Given the description of an element on the screen output the (x, y) to click on. 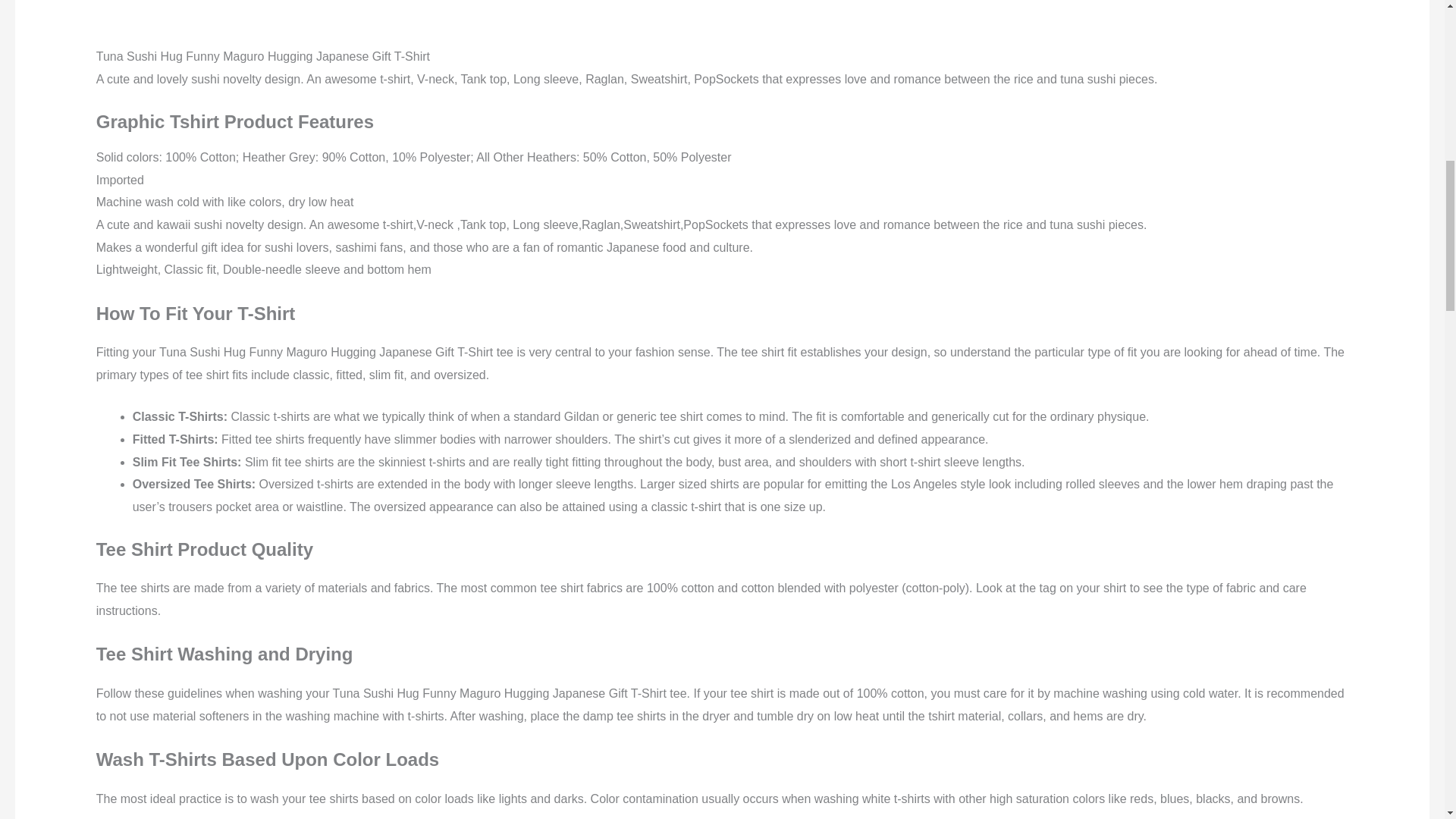
T-Shirt Sizing (354, 5)
Description (129, 5)
Additional information (239, 5)
